Given the description of an element on the screen output the (x, y) to click on. 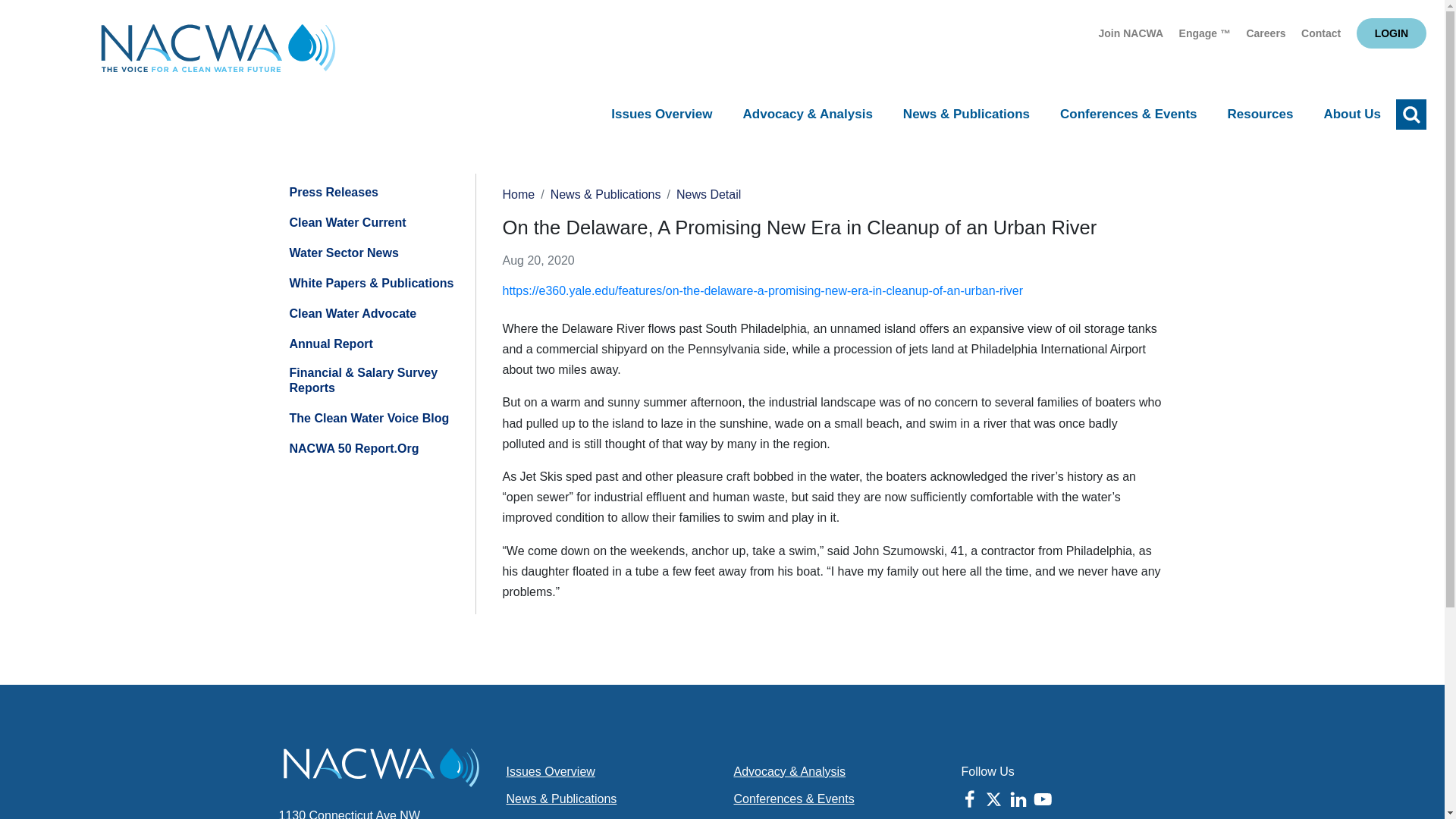
Careers (1265, 33)
nacwa-logo-white-f (381, 767)
LOGIN (1391, 33)
Join NACWA (1131, 33)
Home (218, 52)
Issues Overview (660, 115)
Contact (1320, 33)
